Given the description of an element on the screen output the (x, y) to click on. 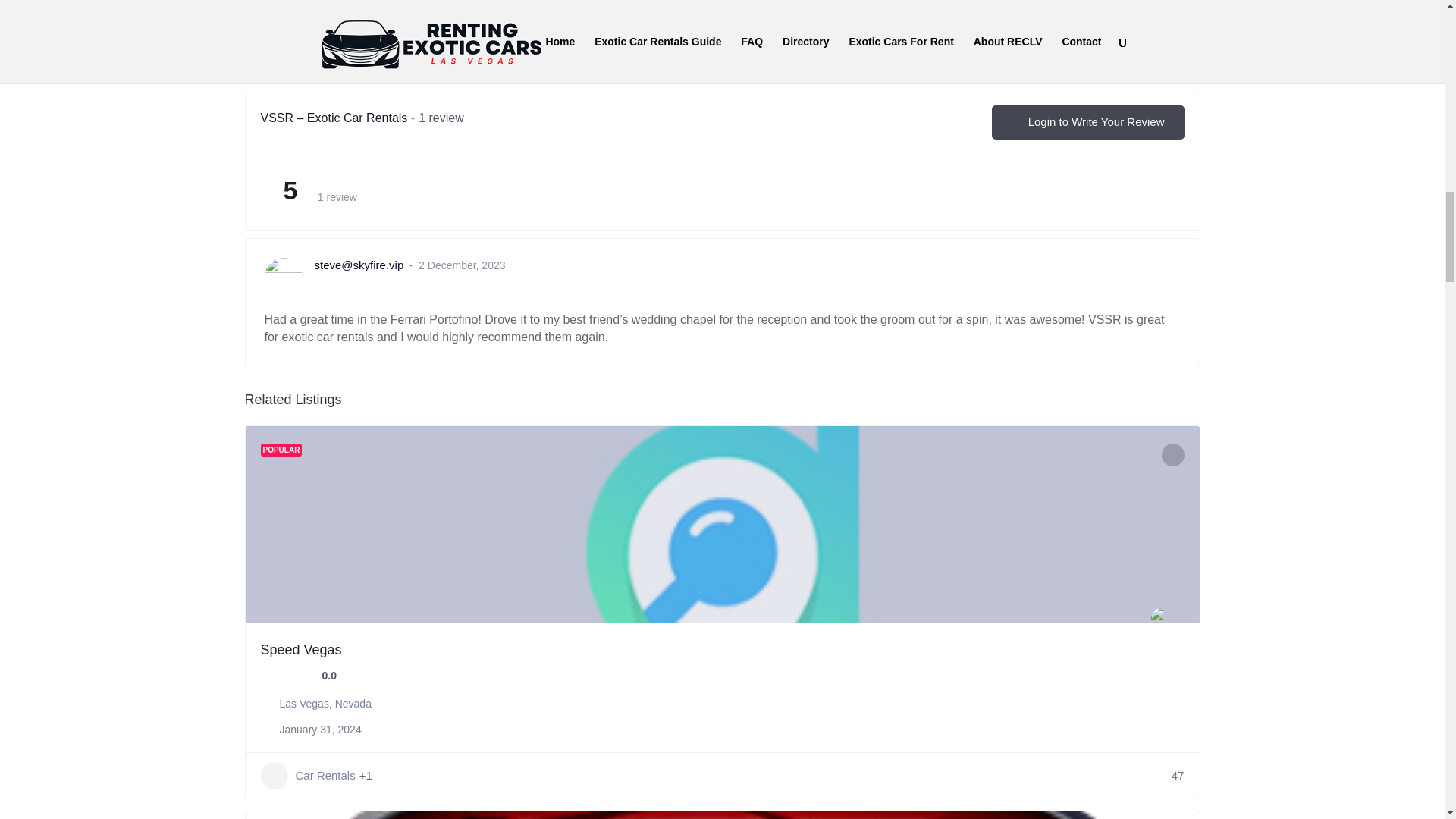
Las Vegas (304, 703)
Login to Write Your Review (1088, 122)
Car Rentals (307, 775)
Speed Vegas (301, 649)
Submit (293, 34)
Nevada (352, 703)
